Given the description of an element on the screen output the (x, y) to click on. 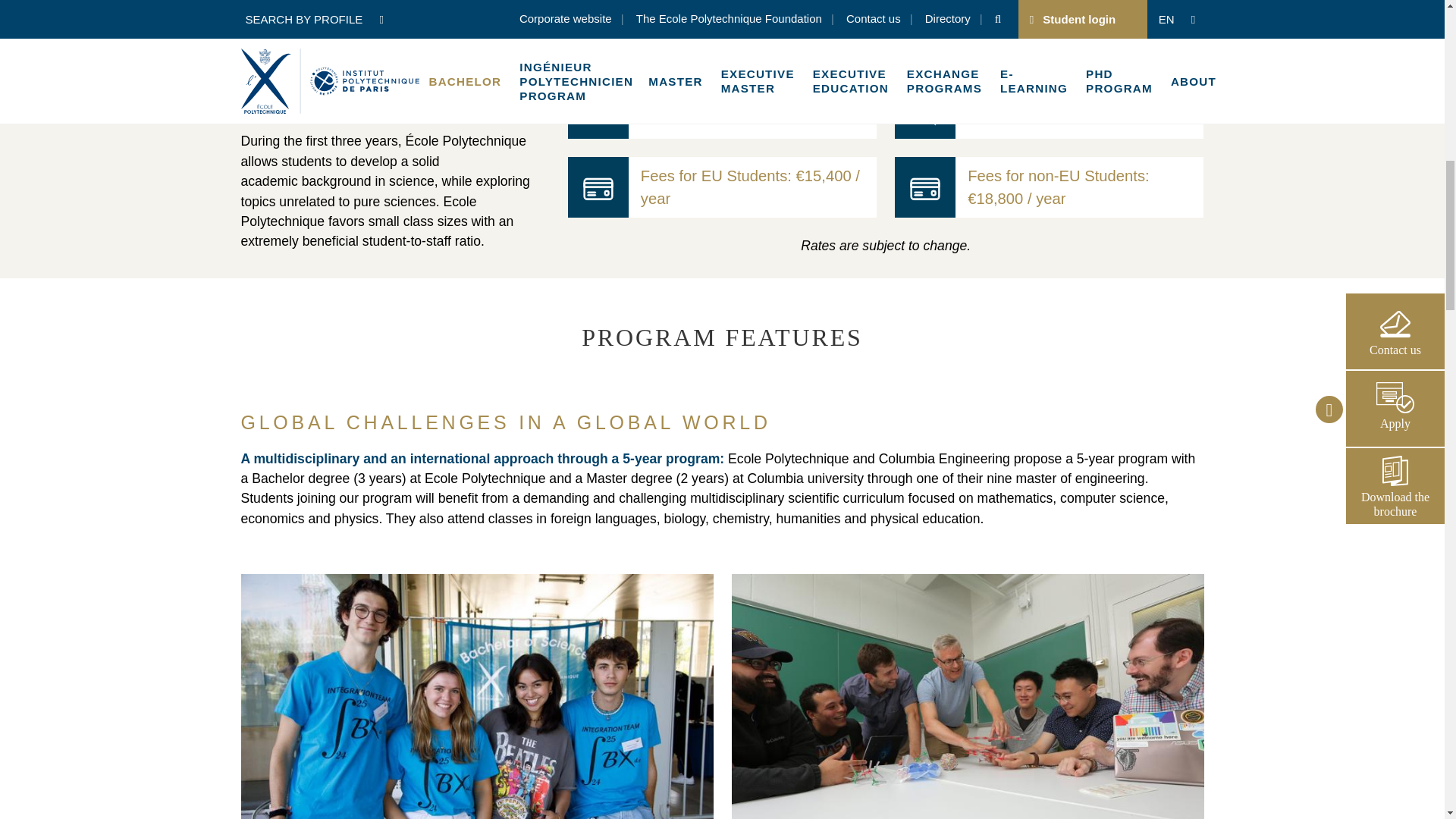
Picto-PROGRAM-Start (598, 29)
Picto-PROGRAM-langues (925, 108)
